Given the description of an element on the screen output the (x, y) to click on. 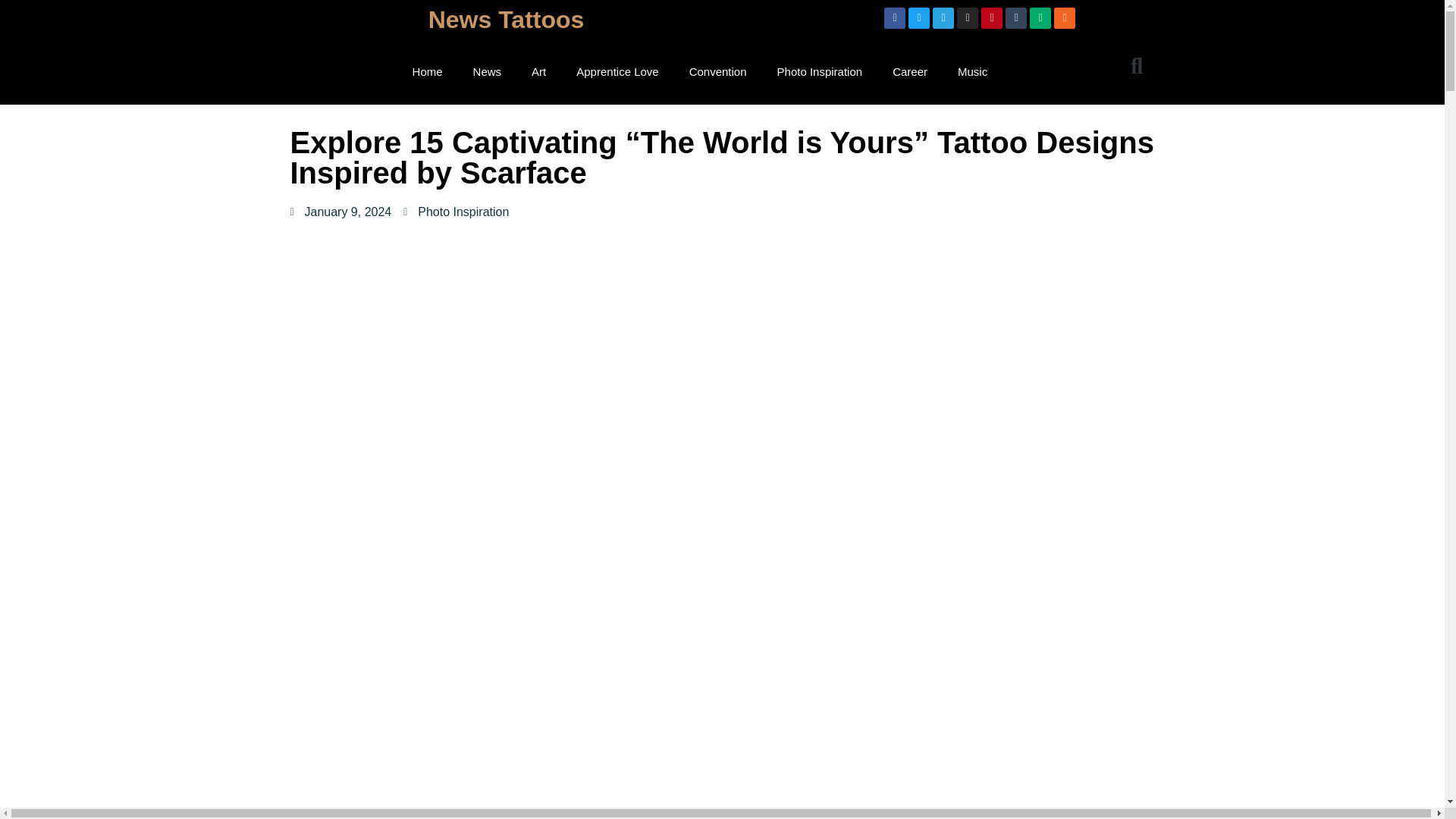
January 9, 2024 (340, 212)
Convention (717, 71)
Photo Inspiration (819, 71)
Art (538, 71)
Career (909, 71)
News Tattoos (506, 19)
Photo Inspiration (462, 211)
Music (972, 71)
Home (427, 71)
Apprentice Love (616, 71)
News (487, 71)
